Given the description of an element on the screen output the (x, y) to click on. 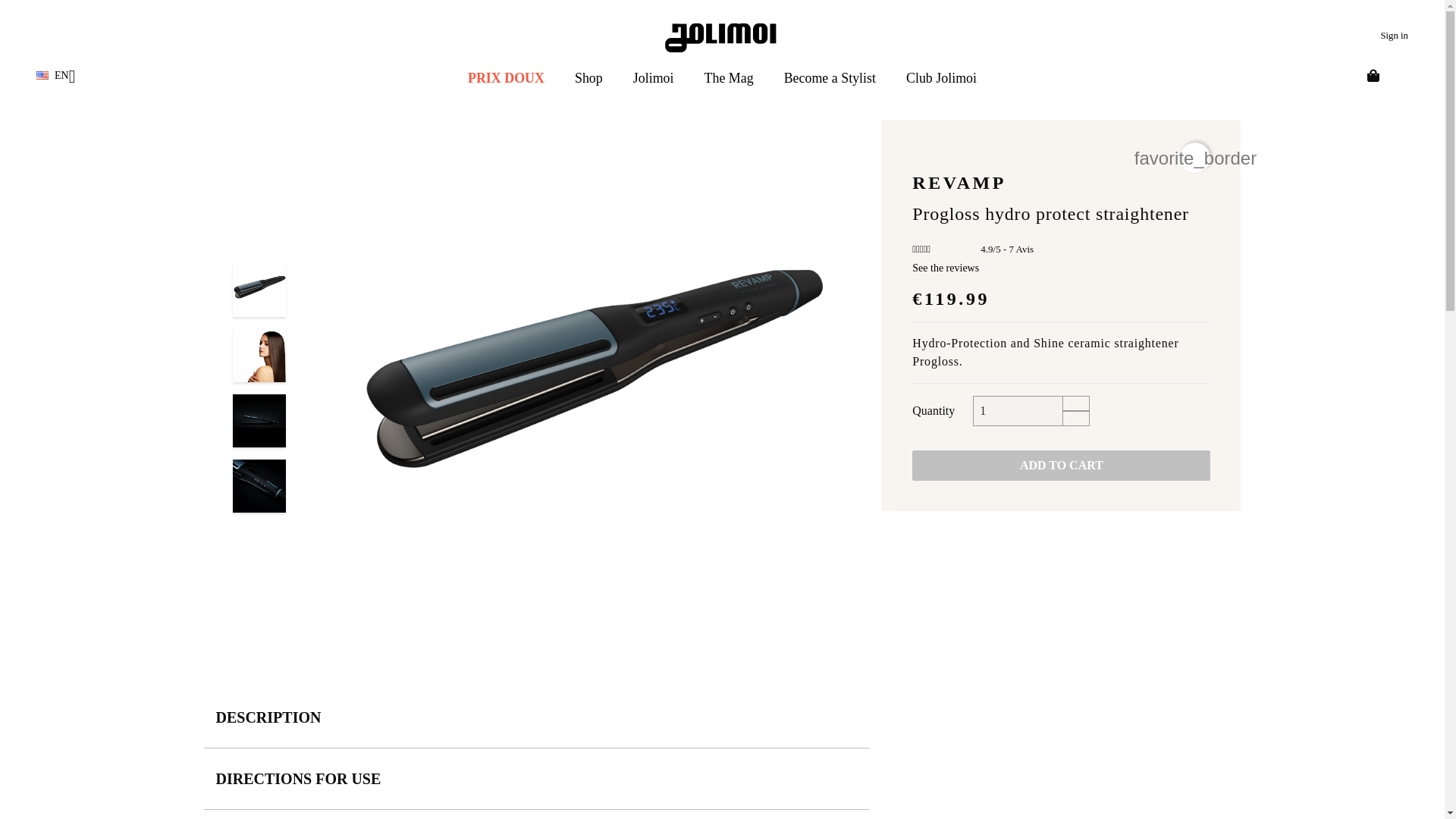
Shop (588, 77)
Progloss hydro protect straightener - Revamp (258, 355)
Progloss hydro protect straightener - Revamp (258, 420)
1 (1017, 410)
Log in to your customer account (1393, 35)
PRIX DOUX (505, 77)
Progloss hydro protect straightener - Revamp (258, 289)
Progloss hydro protect straightener - Revamp (258, 485)
